Given the description of an element on the screen output the (x, y) to click on. 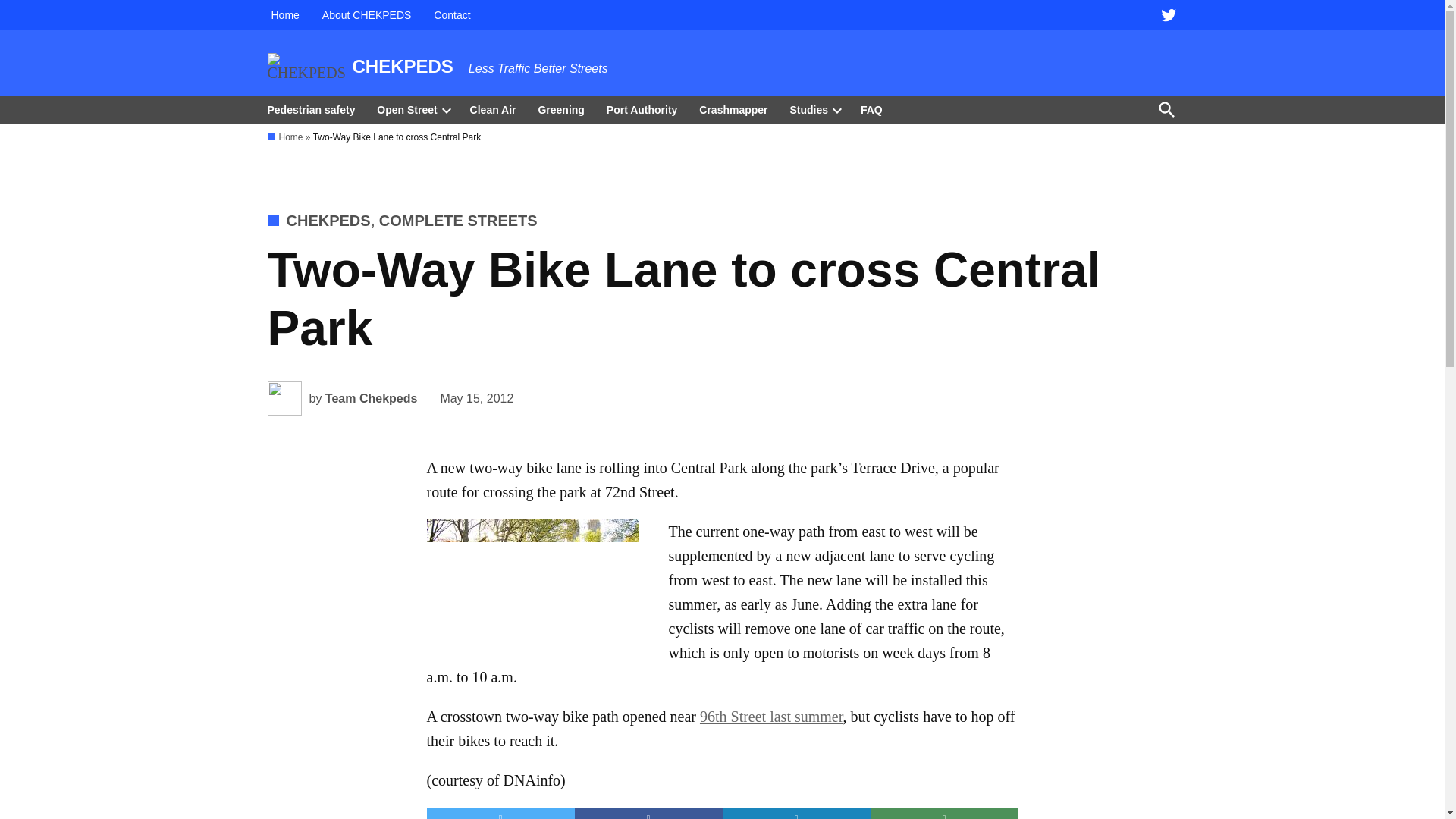
terrace drive (531, 587)
